Given the description of an element on the screen output the (x, y) to click on. 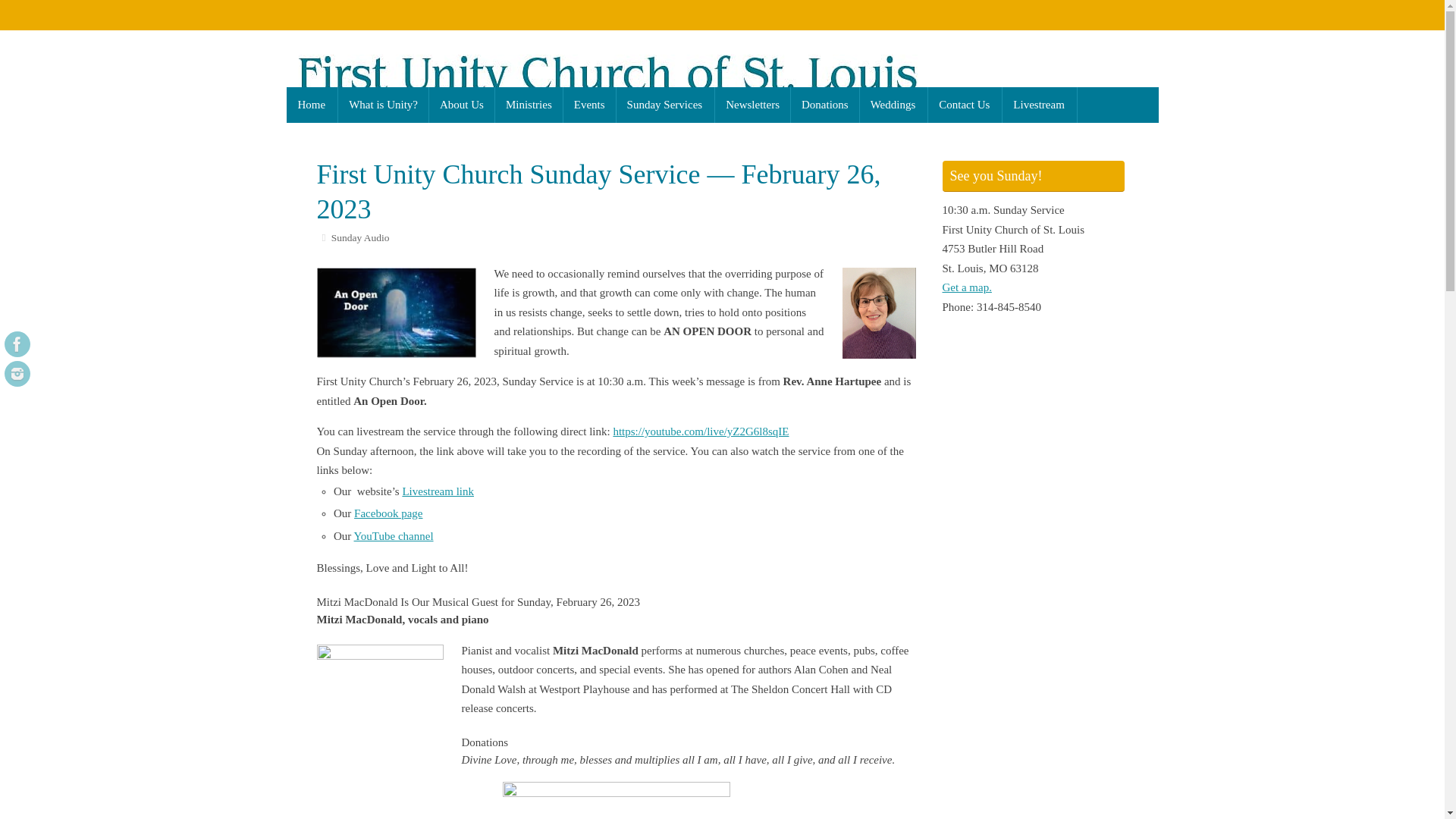
Home (311, 104)
Newsletters (752, 104)
First Unity Church of St Louis (722, 71)
Events (588, 104)
Facebook (17, 344)
Instagram (17, 373)
Categories (324, 237)
Ministries (528, 104)
About Us (461, 104)
What is Unity? (382, 104)
Sunday Services (664, 104)
Google map (966, 287)
